Given the description of an element on the screen output the (x, y) to click on. 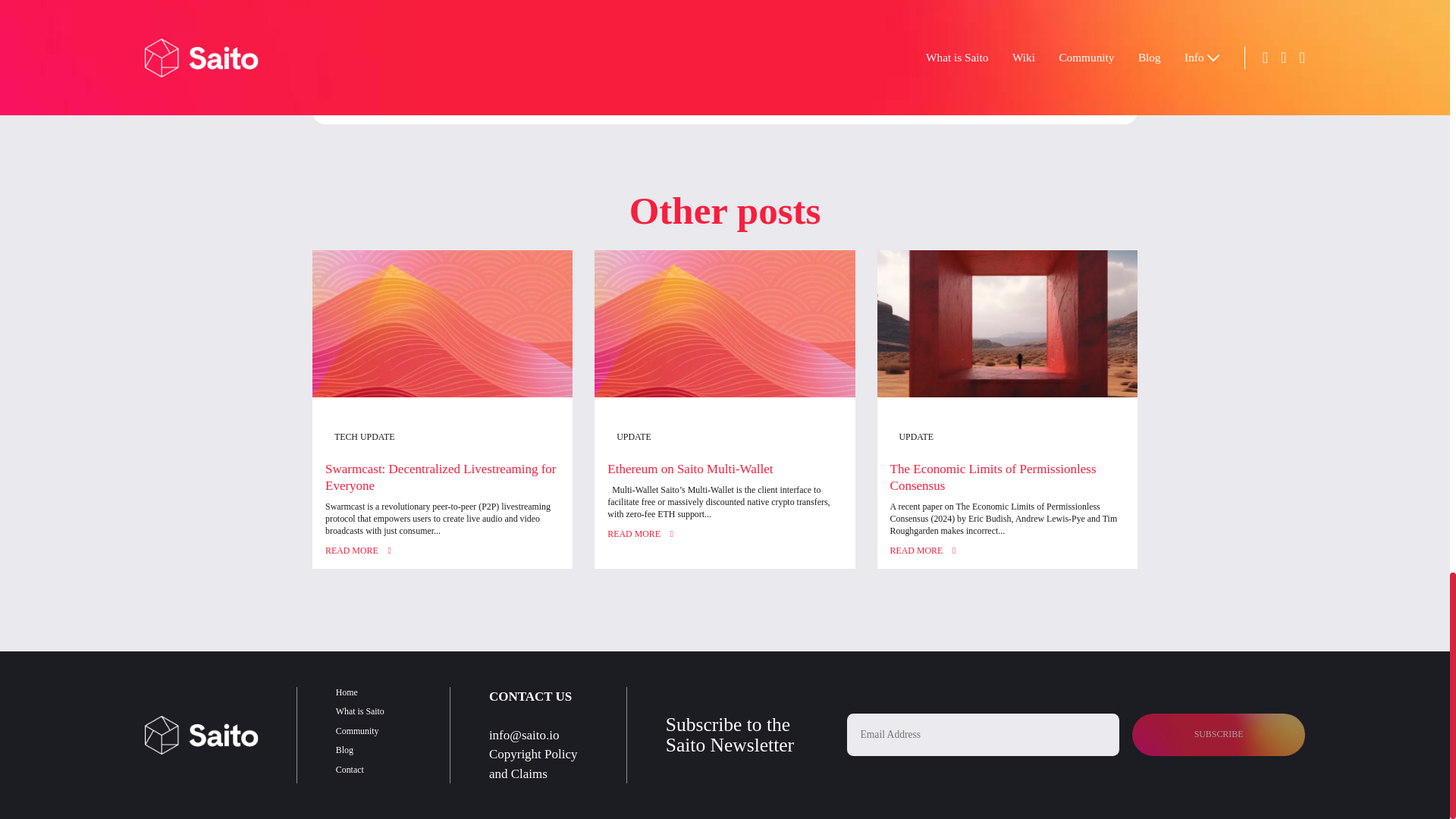
Posts by admin (484, 440)
admin (484, 440)
our code (1024, 343)
Telegram (764, 343)
Discord (834, 343)
contact us on Twitter (676, 343)
blog (997, 366)
